Given the description of an element on the screen output the (x, y) to click on. 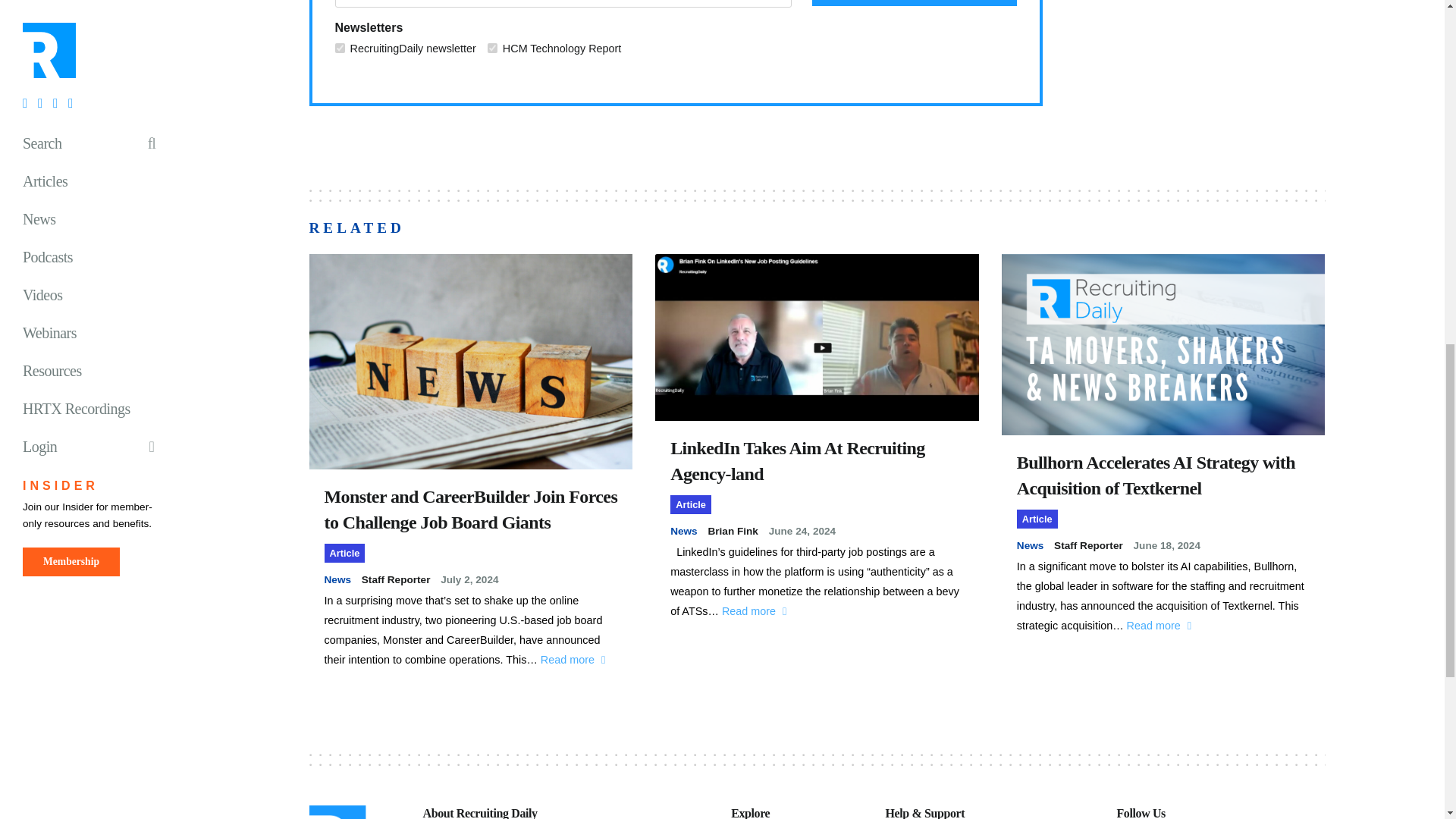
HCM Technology Report (492, 48)
RecruitingDaily newsletter (339, 48)
Subscribe (914, 2)
